Given the description of an element on the screen output the (x, y) to click on. 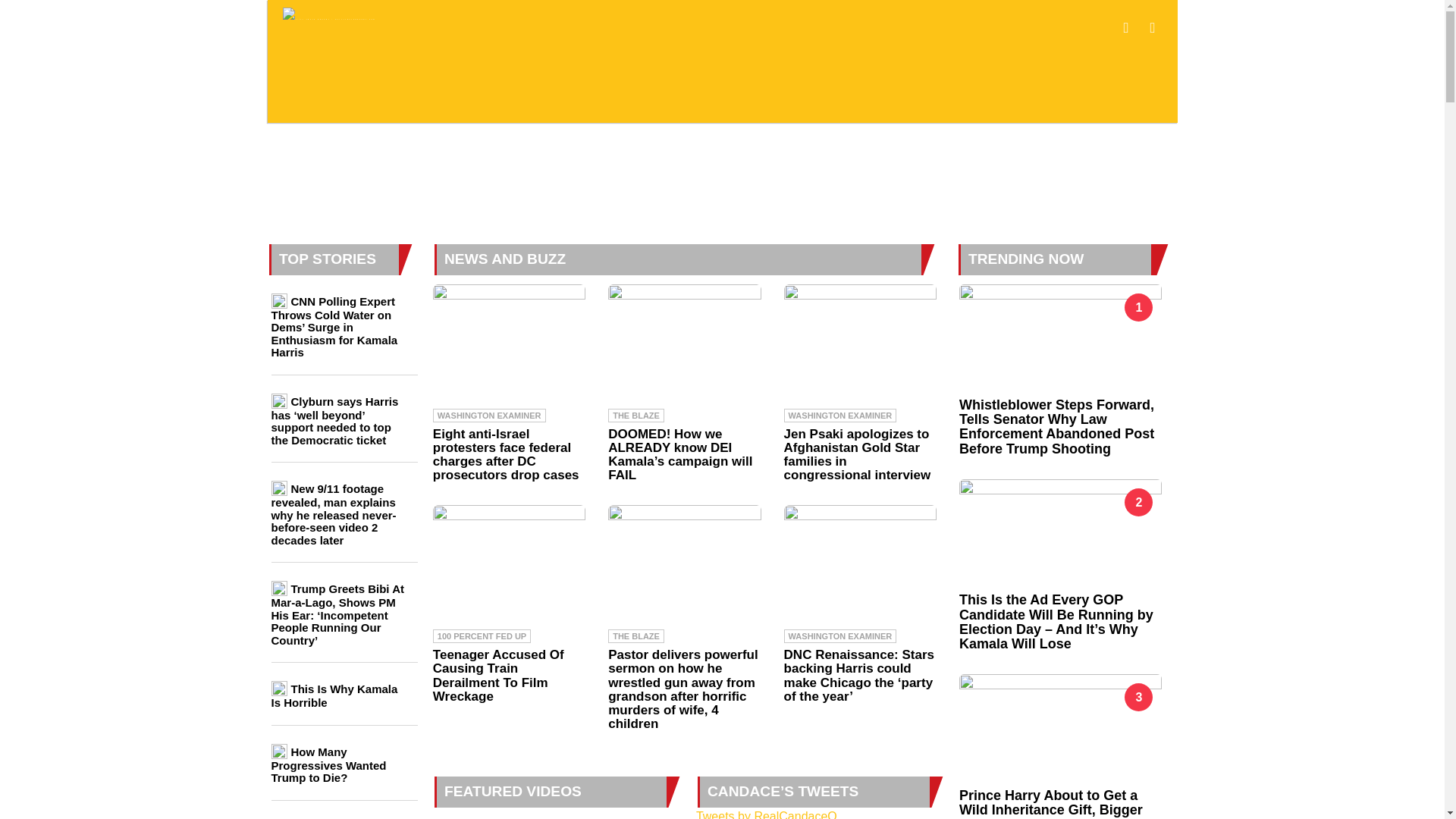
This Is Why Kamala Is Horrible (333, 695)
